Given the description of an element on the screen output the (x, y) to click on. 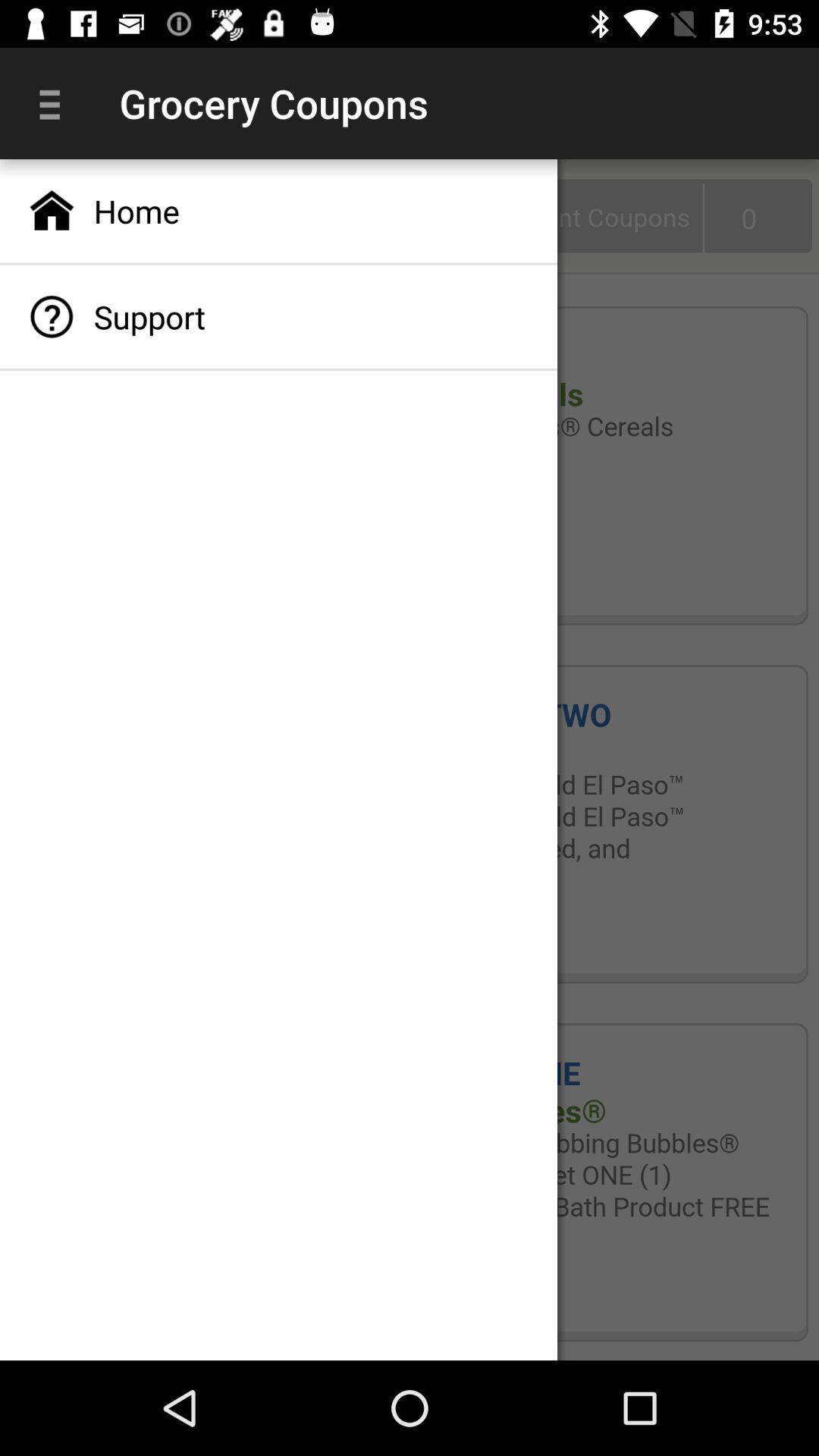
open the icon at the top left corner (55, 103)
